Given the description of an element on the screen output the (x, y) to click on. 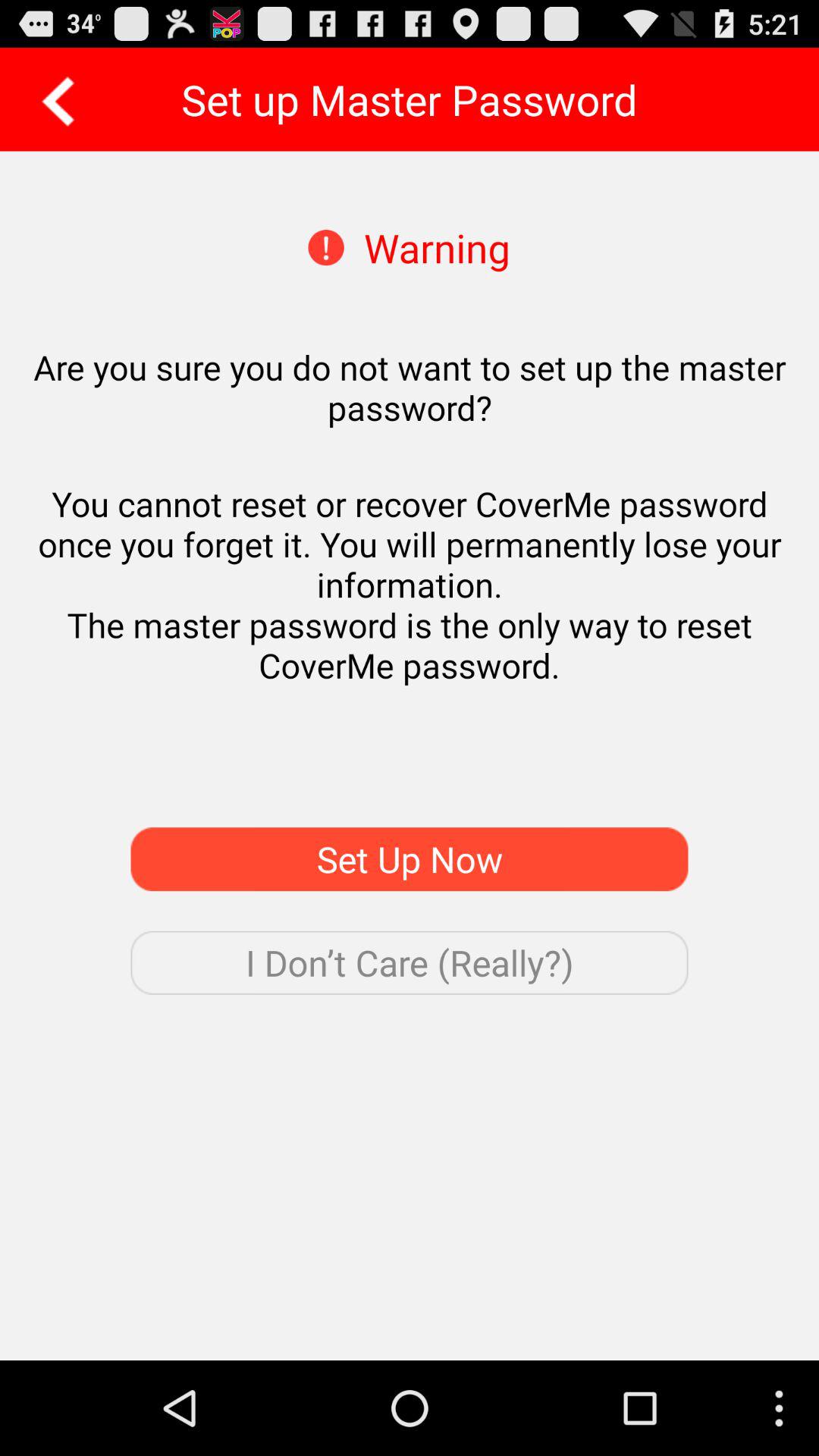
click the i don t item (409, 962)
